Given the description of an element on the screen output the (x, y) to click on. 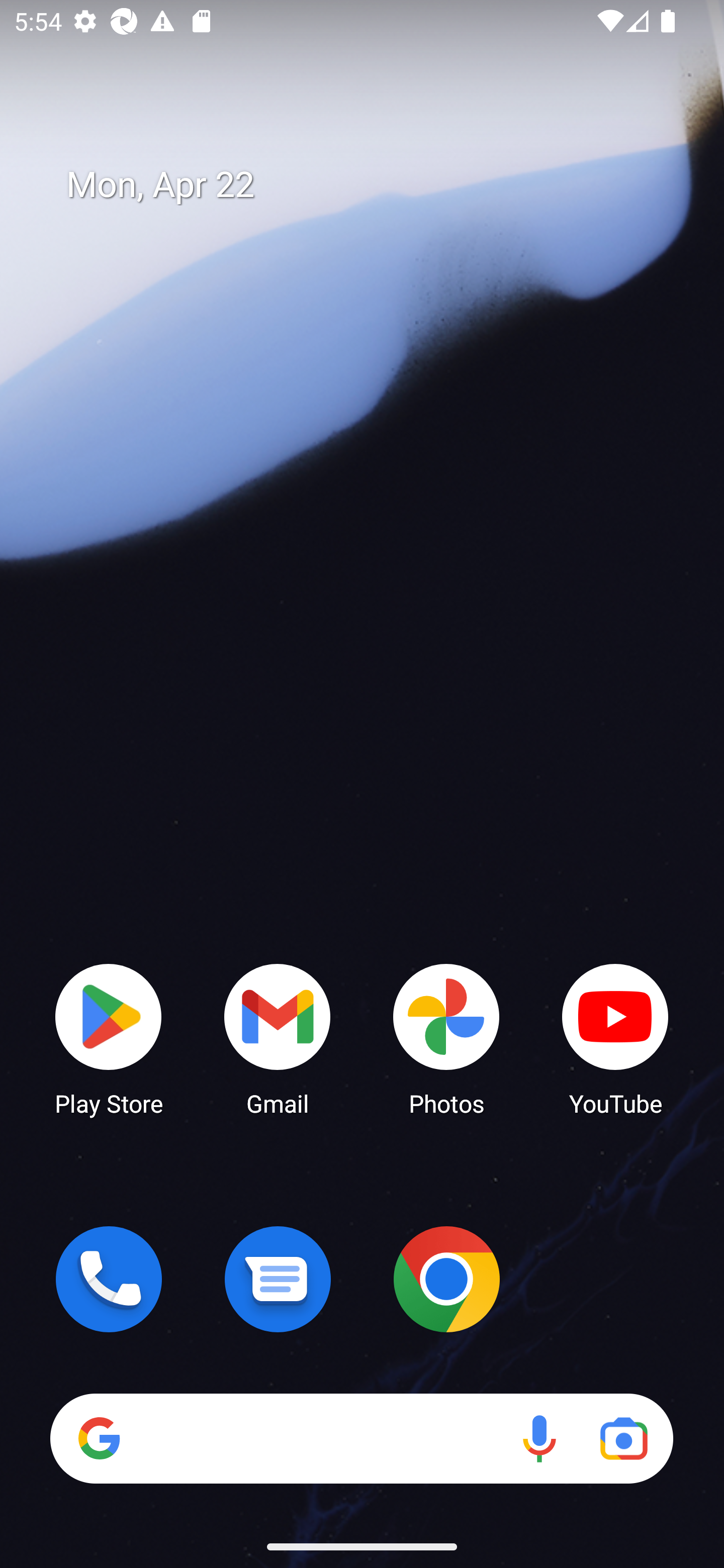
Mon, Apr 22 (375, 184)
Play Store (108, 1038)
Gmail (277, 1038)
Photos (445, 1038)
YouTube (615, 1038)
Phone (108, 1279)
Messages (277, 1279)
Chrome (446, 1279)
Search Voice search Google Lens (361, 1438)
Voice search (539, 1438)
Google Lens (623, 1438)
